Given the description of an element on the screen output the (x, y) to click on. 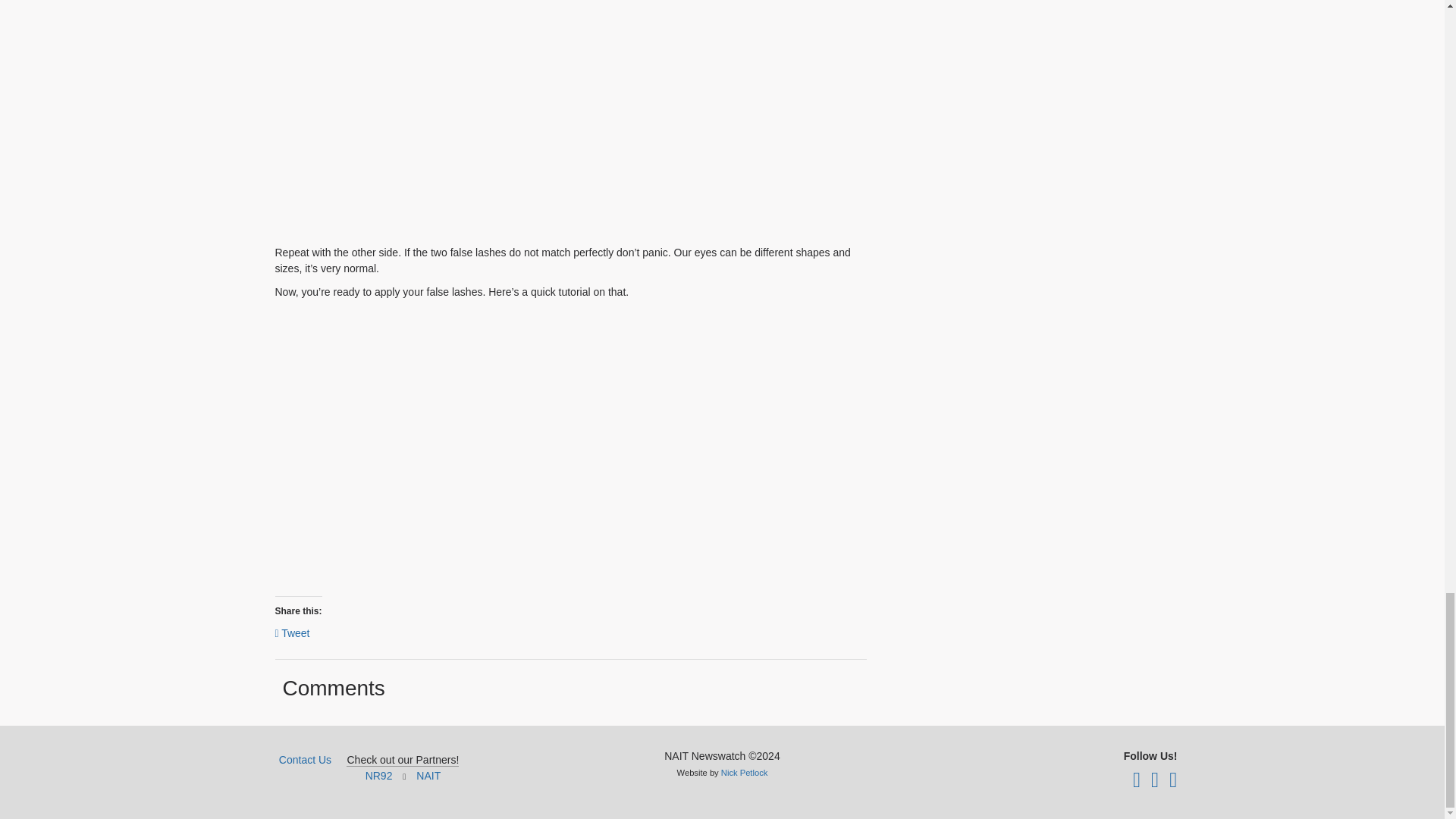
Contact Us (305, 759)
Nick Petlock (744, 772)
NAIT (428, 775)
Tweet (291, 632)
NR92 (379, 775)
